Given the description of an element on the screen output the (x, y) to click on. 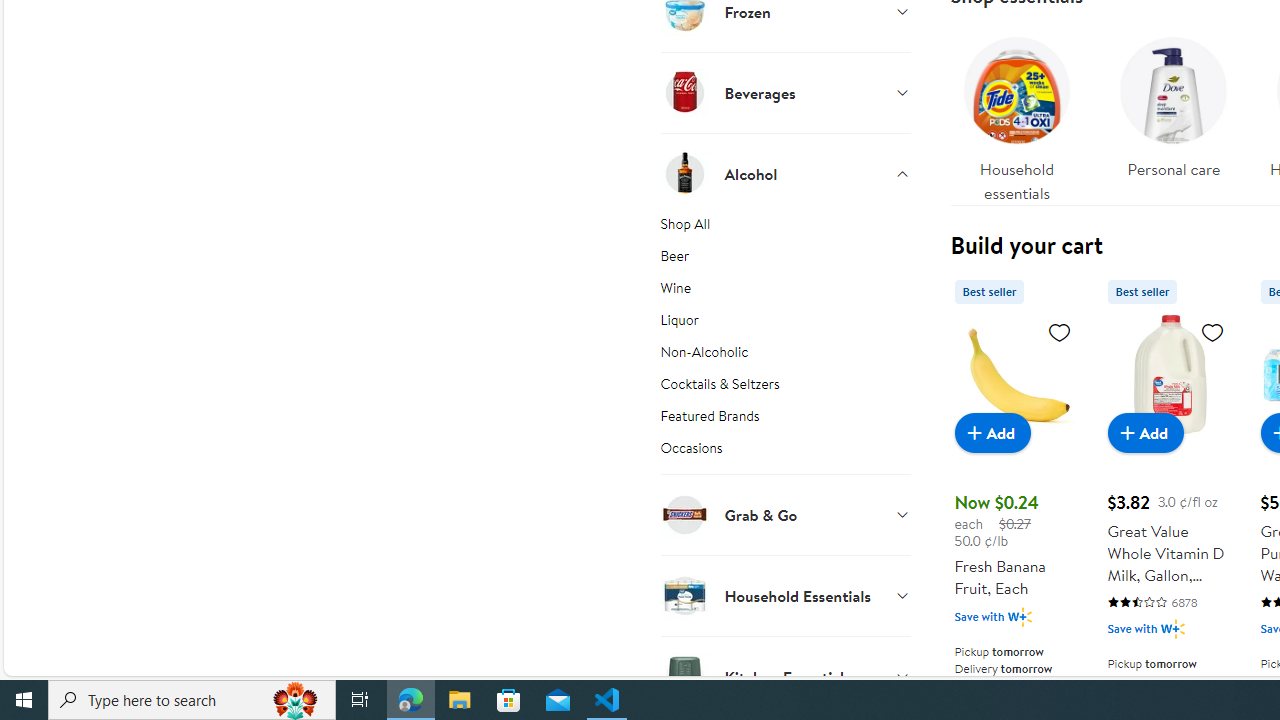
Shop All (785, 227)
Add to cart - Fresh Banana Fruit, Each (992, 431)
Non-Alcoholic (785, 356)
Occasions (785, 455)
Occasions (785, 455)
Personal care (1173, 114)
Shop All (785, 227)
Liquor (785, 323)
Featured Brands (785, 420)
Personal care (1174, 101)
Wine (785, 291)
Liquor (785, 323)
